Given the description of an element on the screen output the (x, y) to click on. 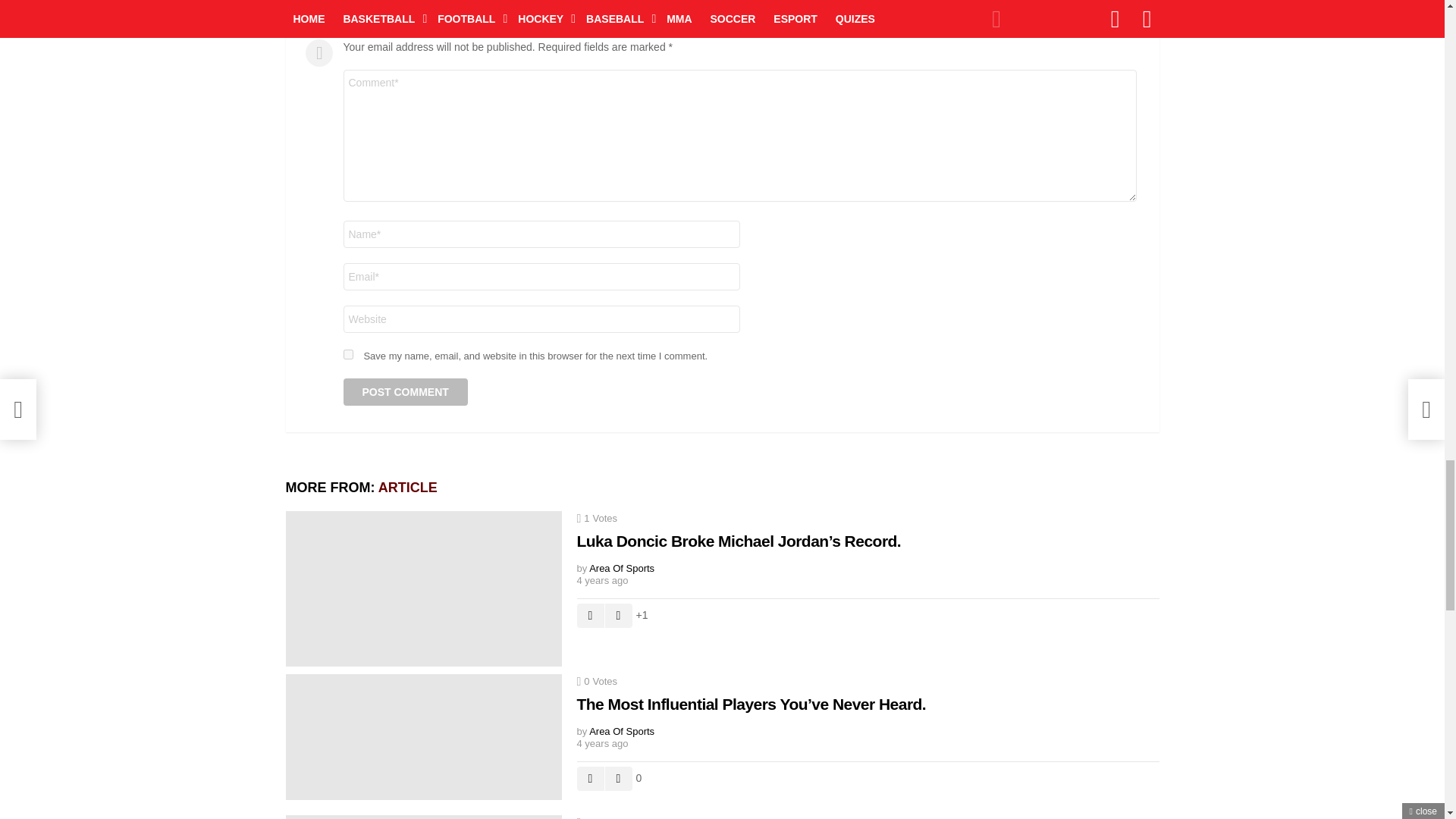
December 1, 2020, 2:30 pm (863, 580)
Posts by Area Of Sports (621, 568)
Upvote (590, 615)
yes (347, 354)
Downvote (618, 615)
Post Comment (404, 391)
